Given the description of an element on the screen output the (x, y) to click on. 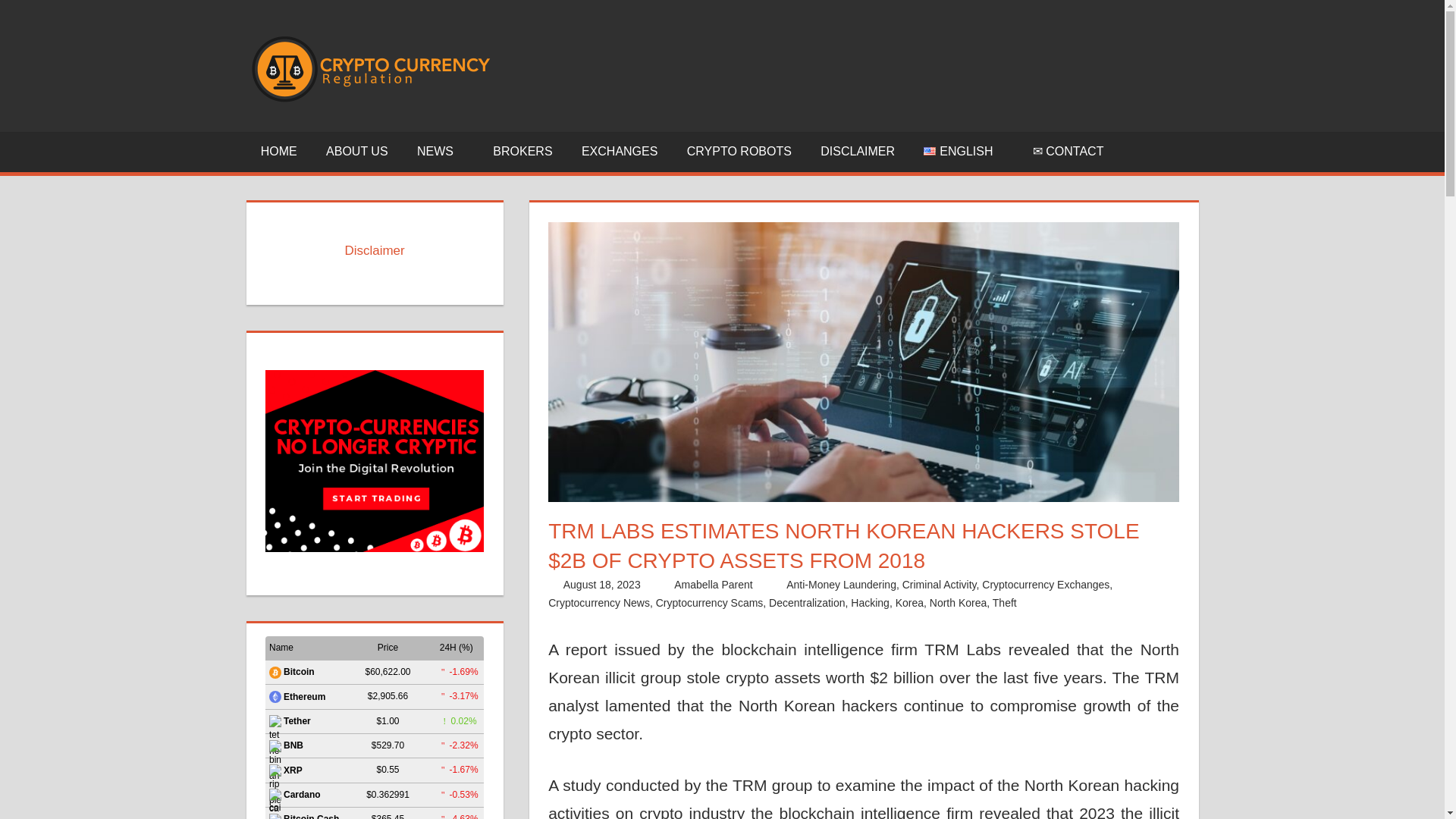
Cryptocurrency News (598, 603)
Leave a comment (1088, 603)
Korea (909, 603)
HOME (278, 151)
August 18, 2023 (601, 584)
View all posts by Amabella Parent (713, 584)
Hacking (869, 603)
BROKERS (523, 151)
Amabella Parent (713, 584)
NEWS (441, 151)
Decentralization (806, 603)
North Korea (958, 603)
ENGLISH (962, 151)
DISCLAIMER (857, 151)
Cryptocurrency Scams (709, 603)
